Given the description of an element on the screen output the (x, y) to click on. 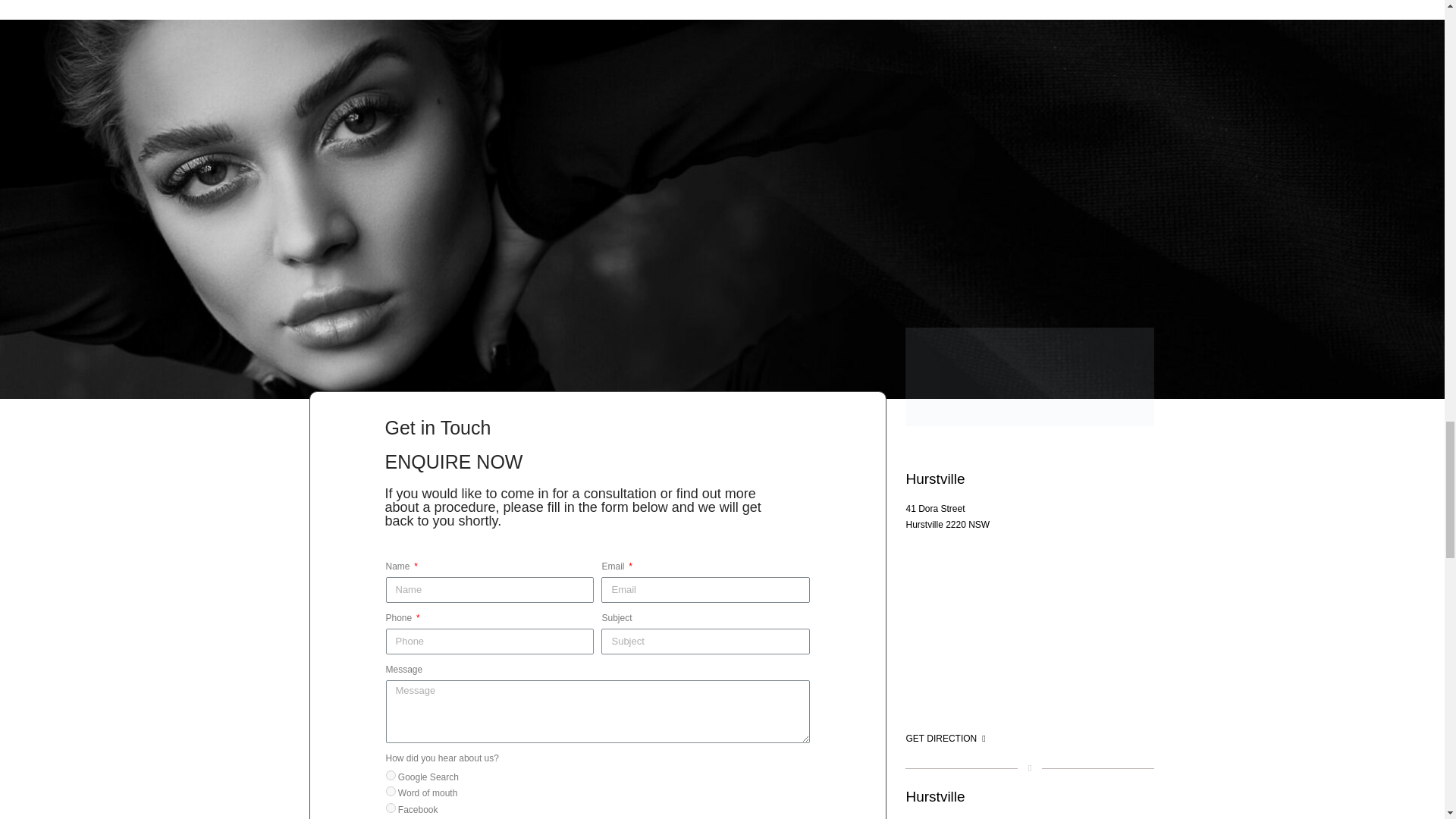
Medical Aesthetics 360 - Hurstville (1029, 639)
Word of mouth  (389, 791)
Facebook (389, 808)
Google Search  (389, 775)
